Given the description of an element on the screen output the (x, y) to click on. 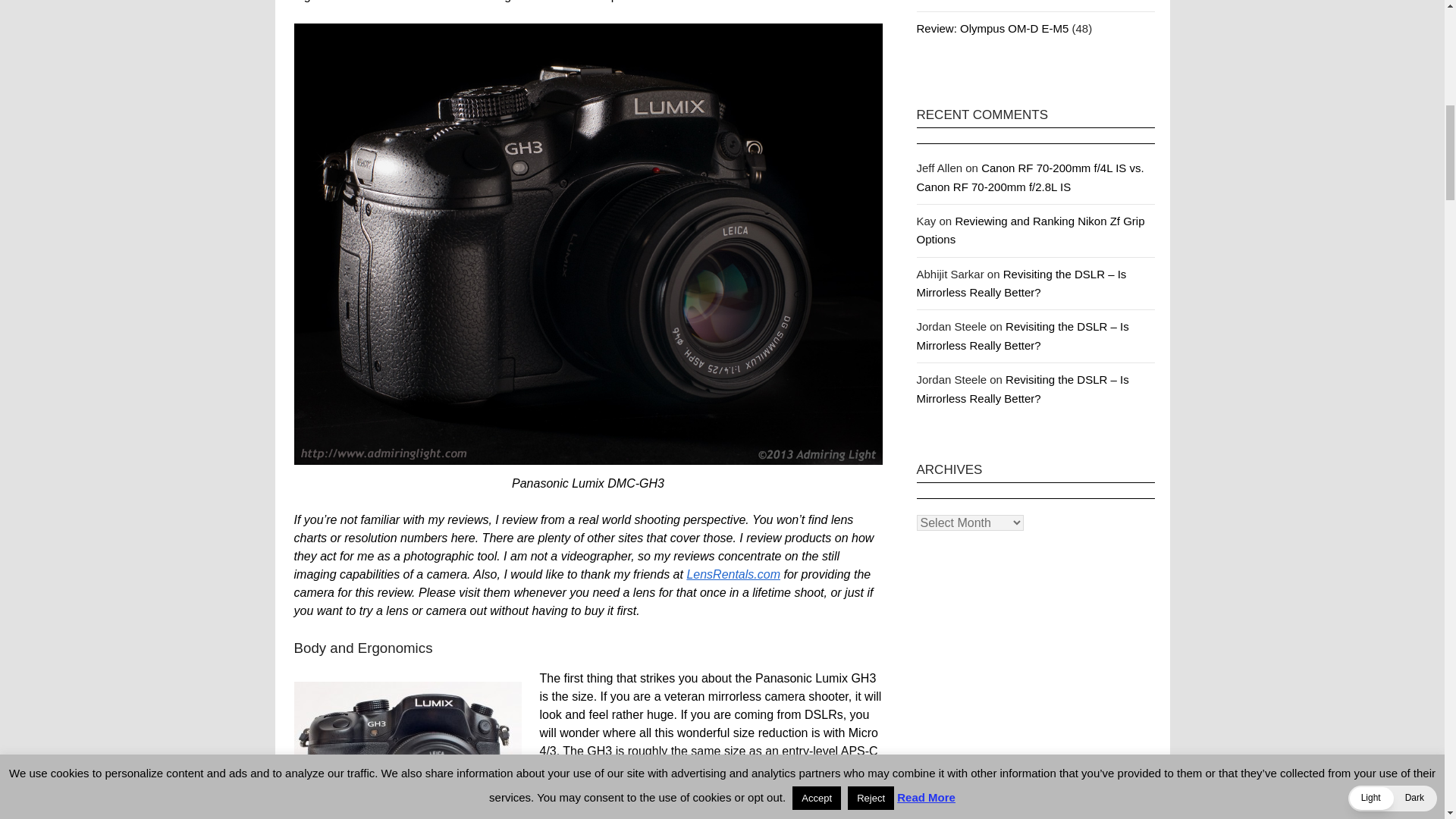
LensRentals.com (732, 574)
